Given the description of an element on the screen output the (x, y) to click on. 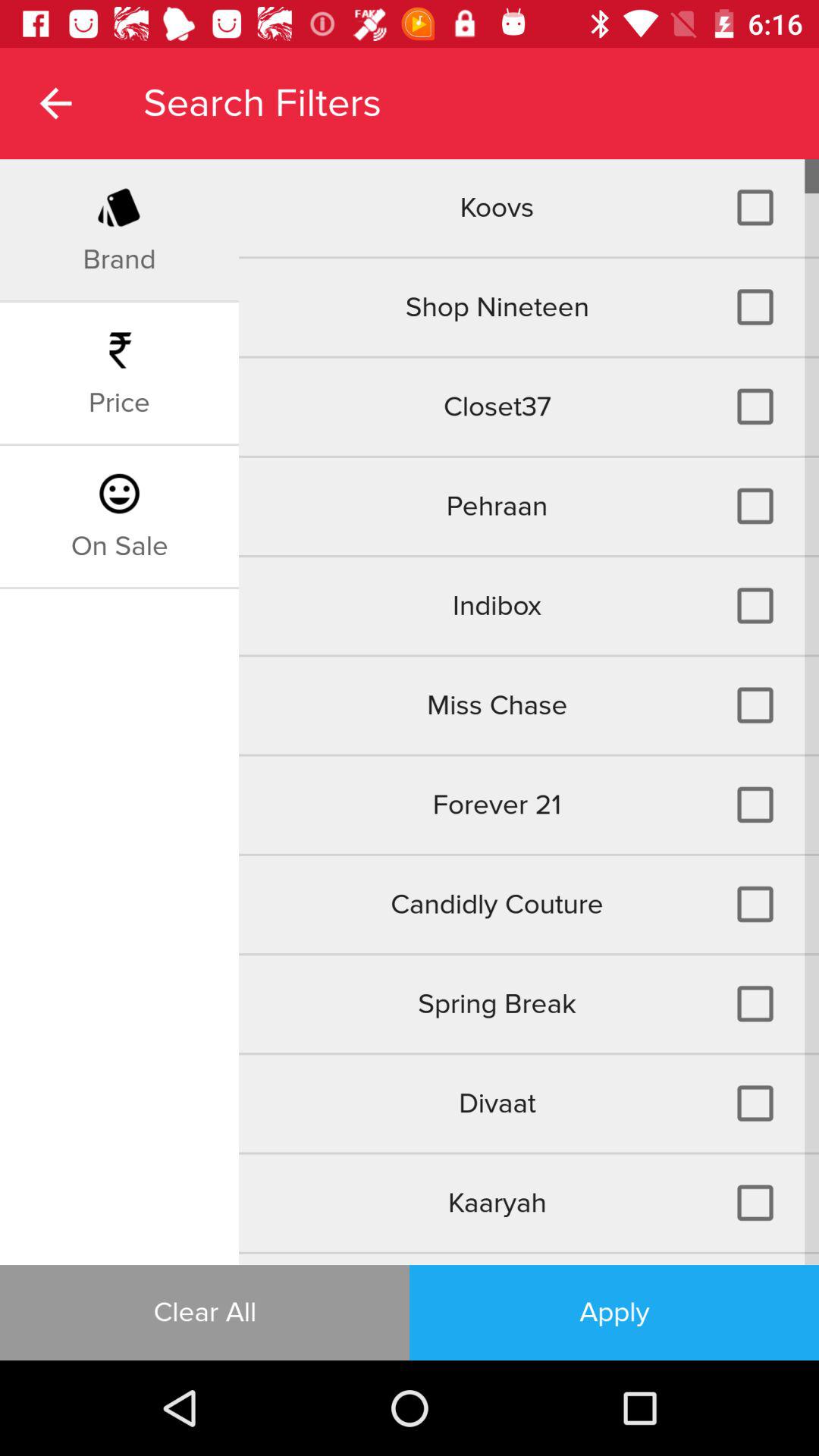
turn off bandbox (528, 1259)
